Given the description of an element on the screen output the (x, y) to click on. 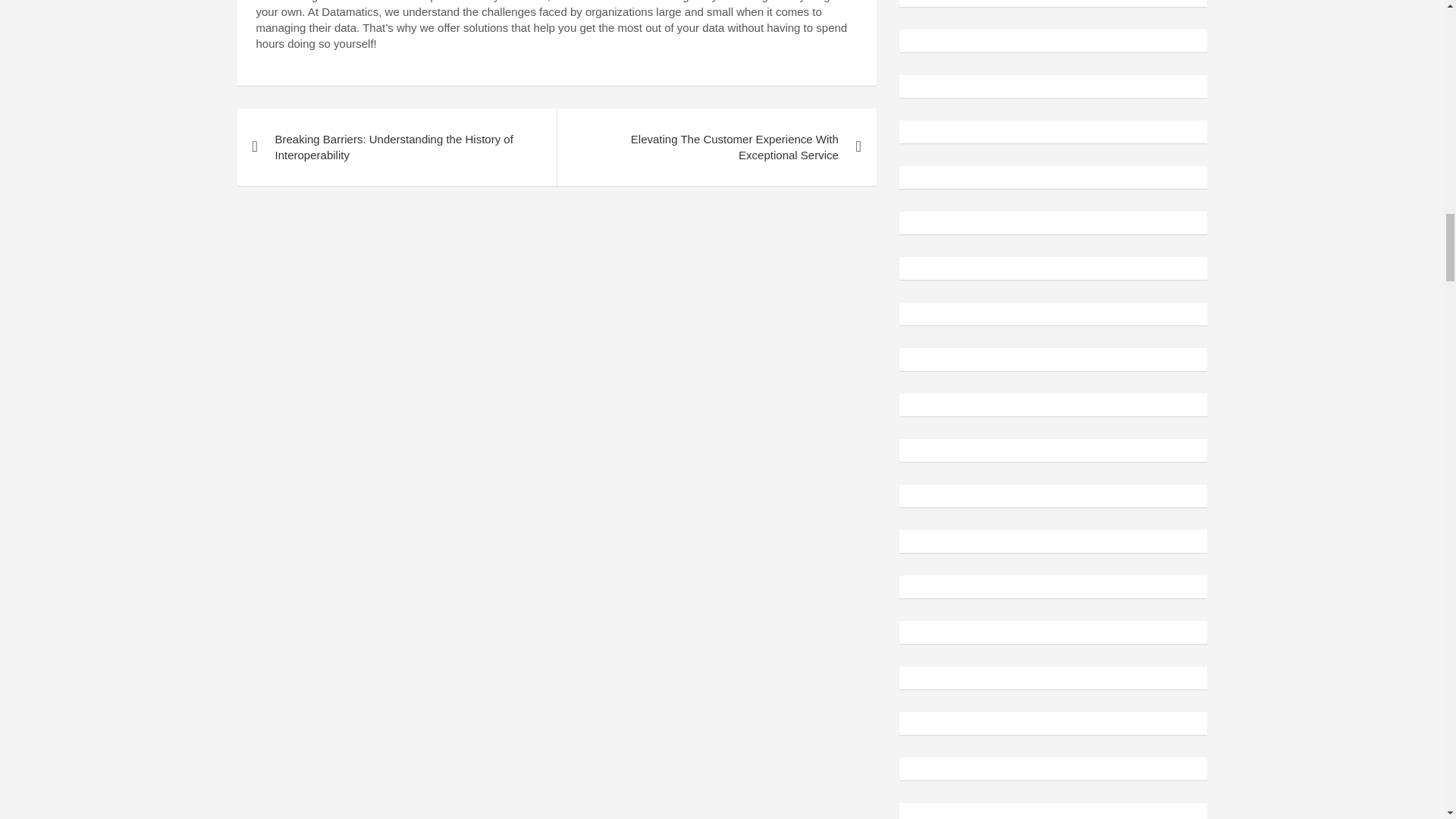
Elevating The Customer Experience With Exceptional Service (716, 146)
